Given the description of an element on the screen output the (x, y) to click on. 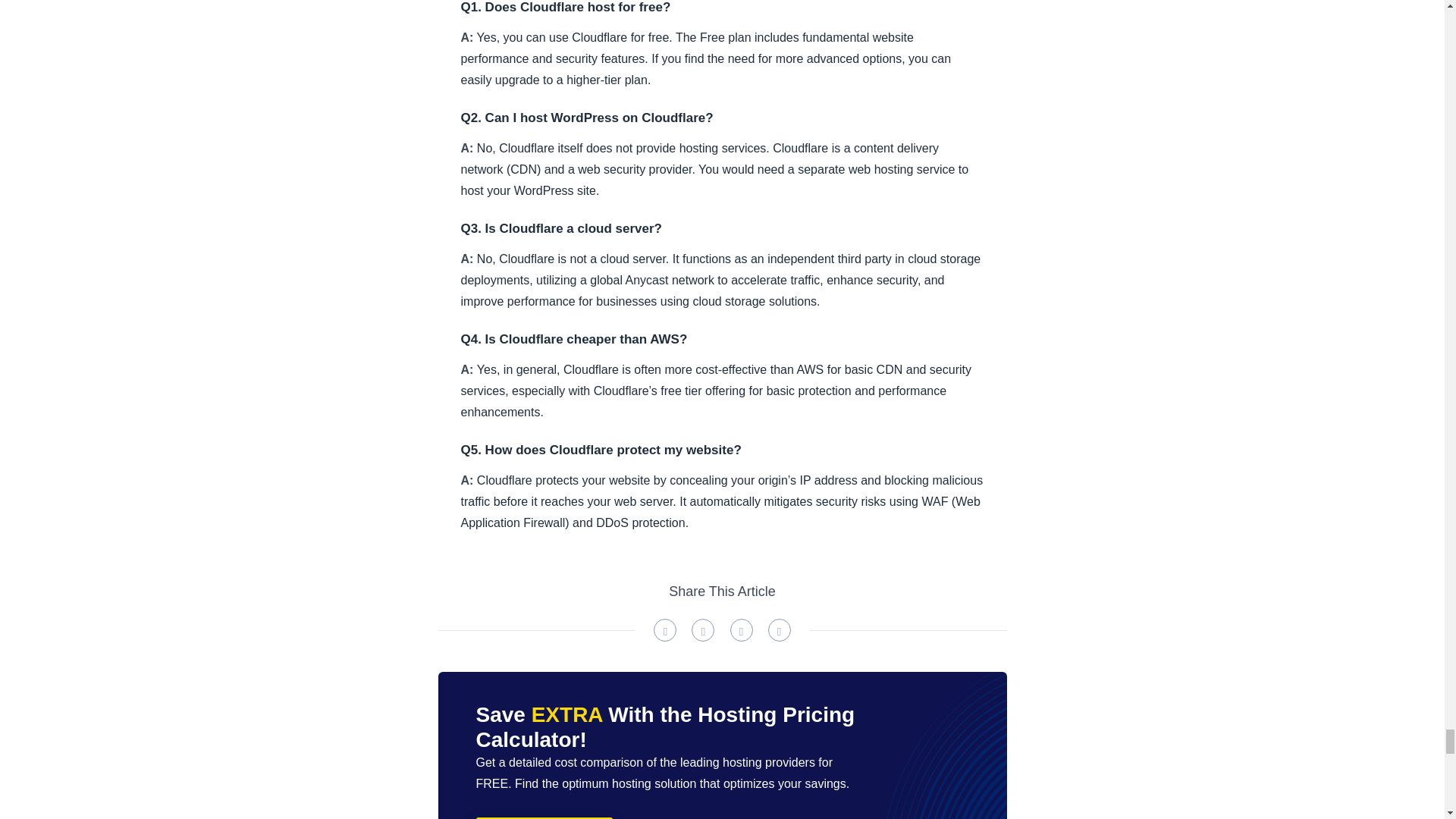
Share post (740, 630)
Share post (779, 630)
Share post (665, 630)
